Given the description of an element on the screen output the (x, y) to click on. 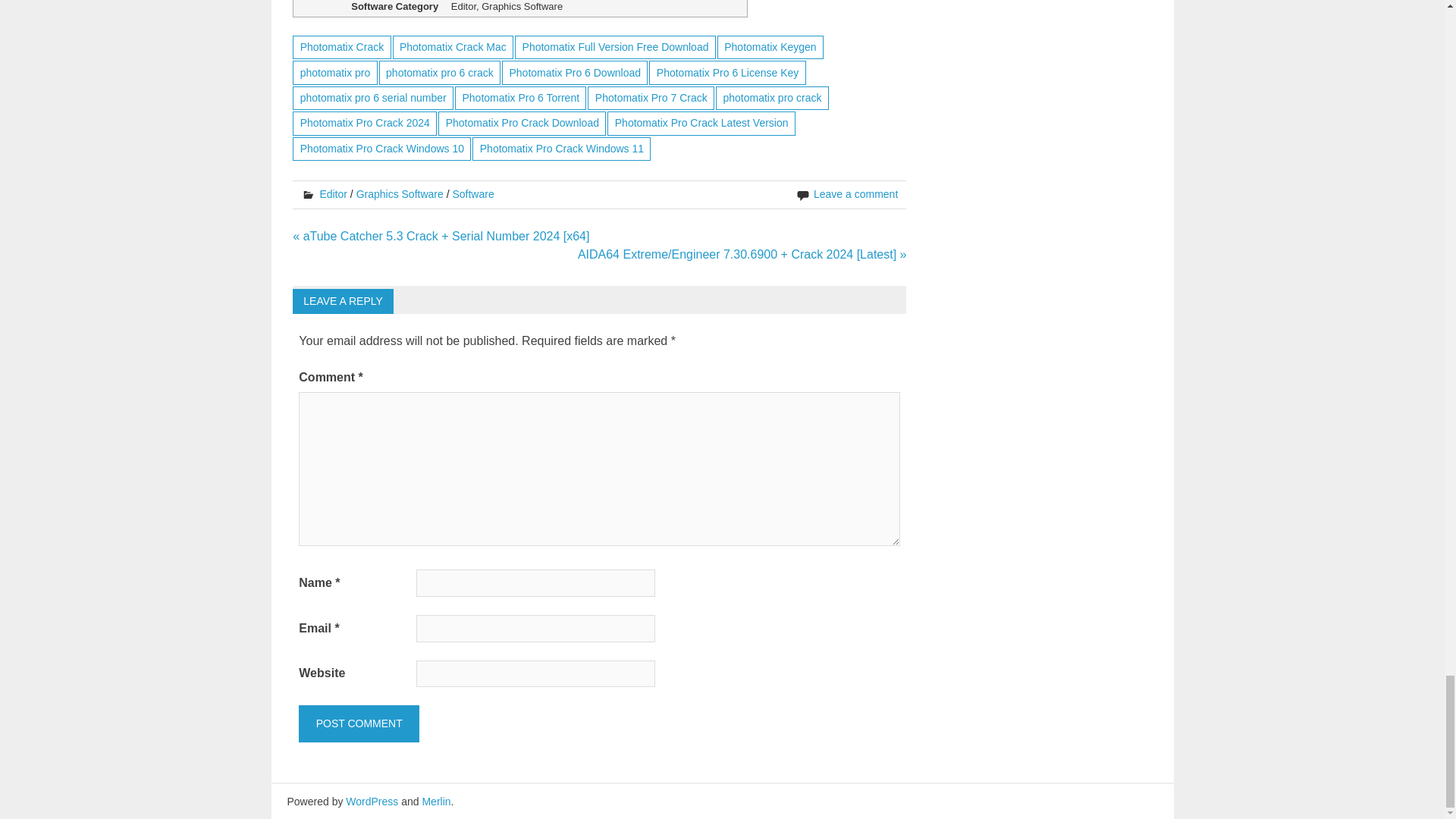
Post Comment (358, 723)
